Given the description of an element on the screen output the (x, y) to click on. 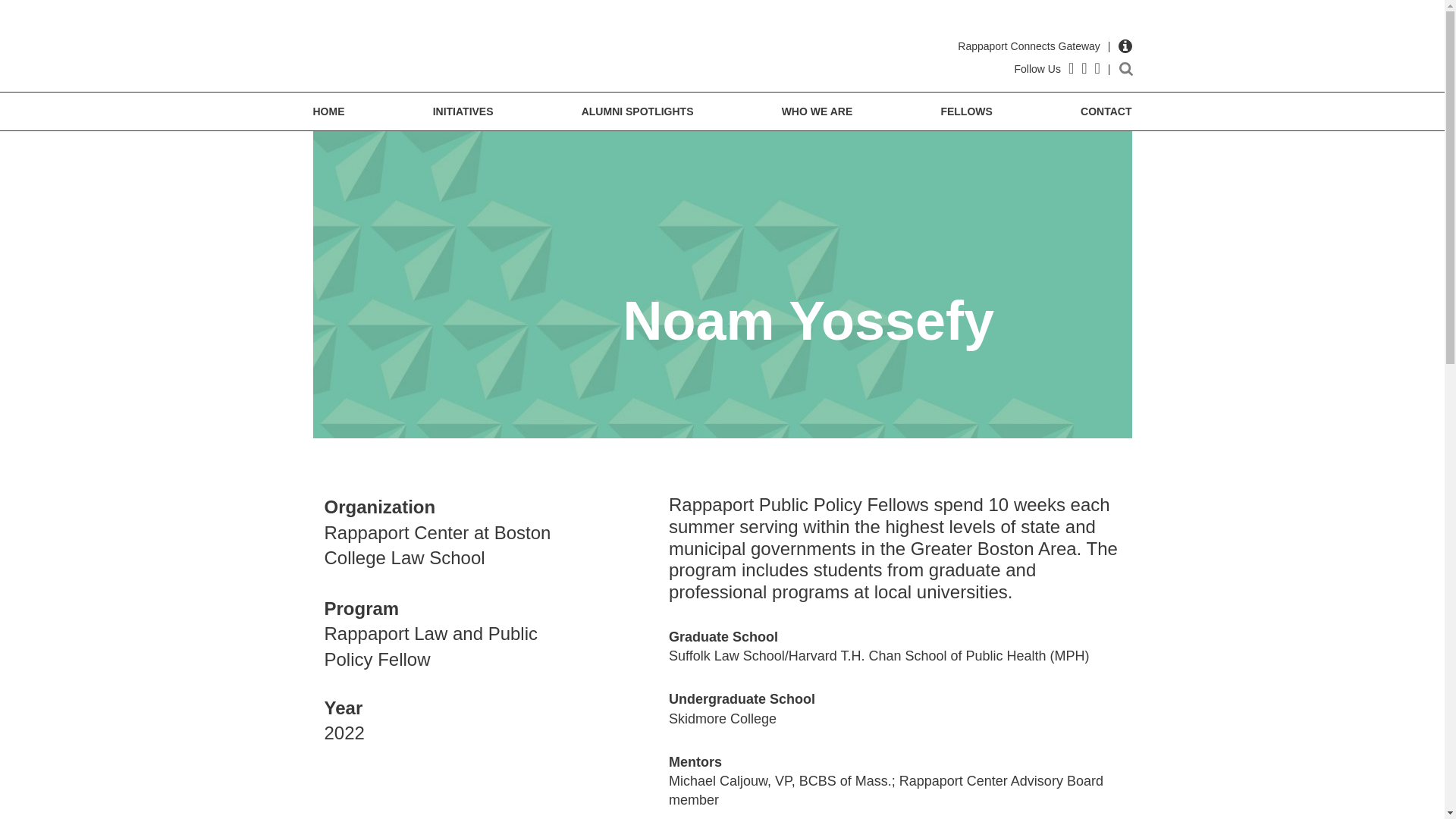
WHO WE ARE (817, 111)
CONTACT (1105, 111)
FELLOWS (965, 111)
INITIATIVES (462, 111)
ALUMNI SPOTLIGHTS (637, 111)
Rappaport (401, 48)
Open search form (1125, 69)
